Given the description of an element on the screen output the (x, y) to click on. 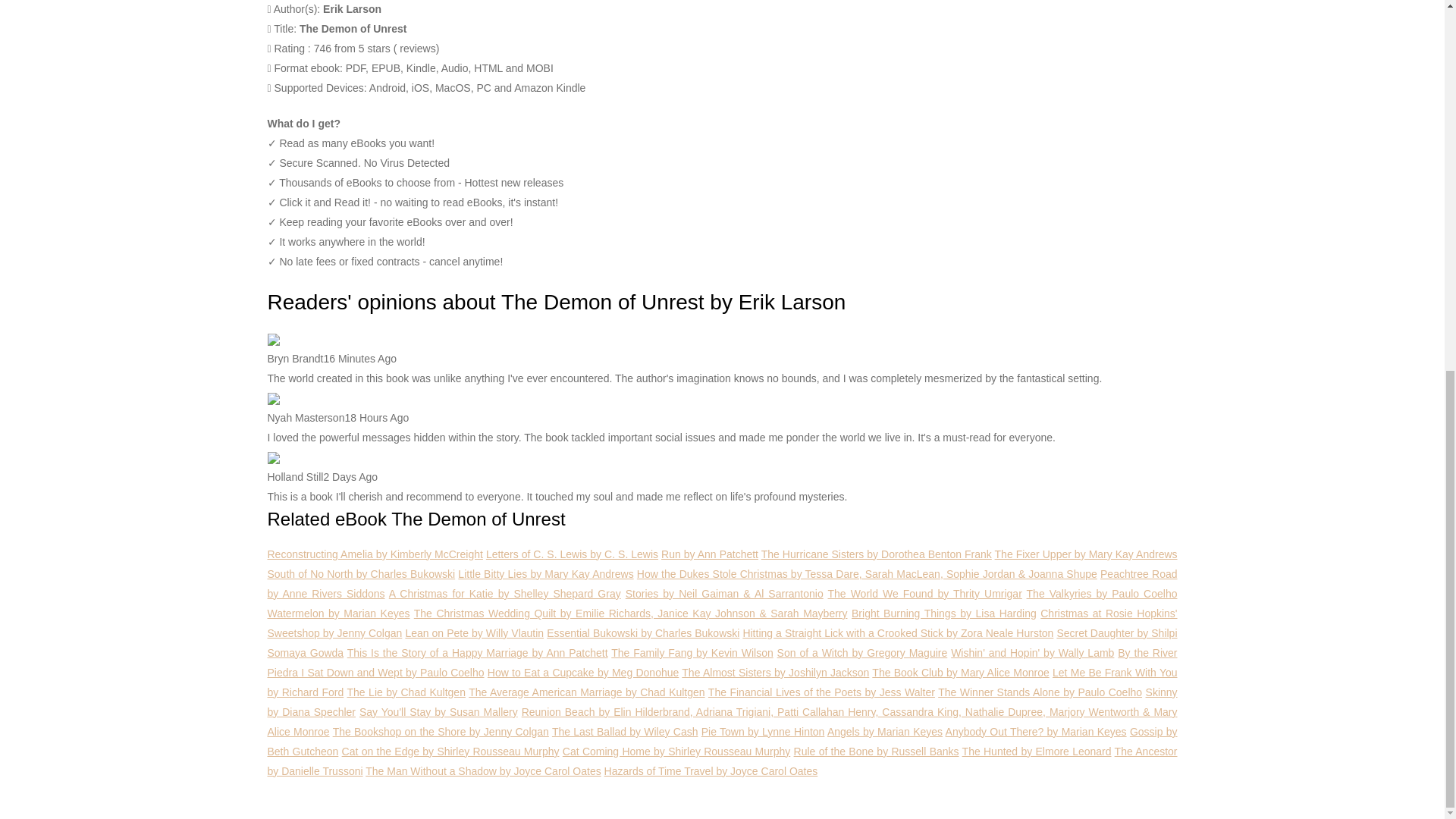
The Almost Sisters by Joshilyn Jackson (775, 672)
The Valkyries by Paulo Coelho (1101, 593)
Lean on Pete by Willy Vlautin (473, 633)
By the River Piedra I Sat Down and Wept by Paulo Coelho (721, 662)
How to Eat a Cupcake by Meg Donohue (582, 672)
This Is the Story of a Happy Marriage by Ann Patchett (477, 653)
Son of a Witch by Gregory Maguire (862, 653)
Christmas at Rosie Hopkins' Sweetshop by Jenny Colgan (721, 623)
South of No North by Charles Bukowski (360, 573)
The Family Fang by Kevin Wilson (692, 653)
Bright Burning Things by Lisa Harding (943, 613)
Essential Bukowski by Charles Bukowski (643, 633)
Run by Ann Patchett (709, 553)
Watermelon by Marian Keyes (337, 613)
Letters of C. S. Lewis by C. S. Lewis (572, 553)
